Given the description of an element on the screen output the (x, y) to click on. 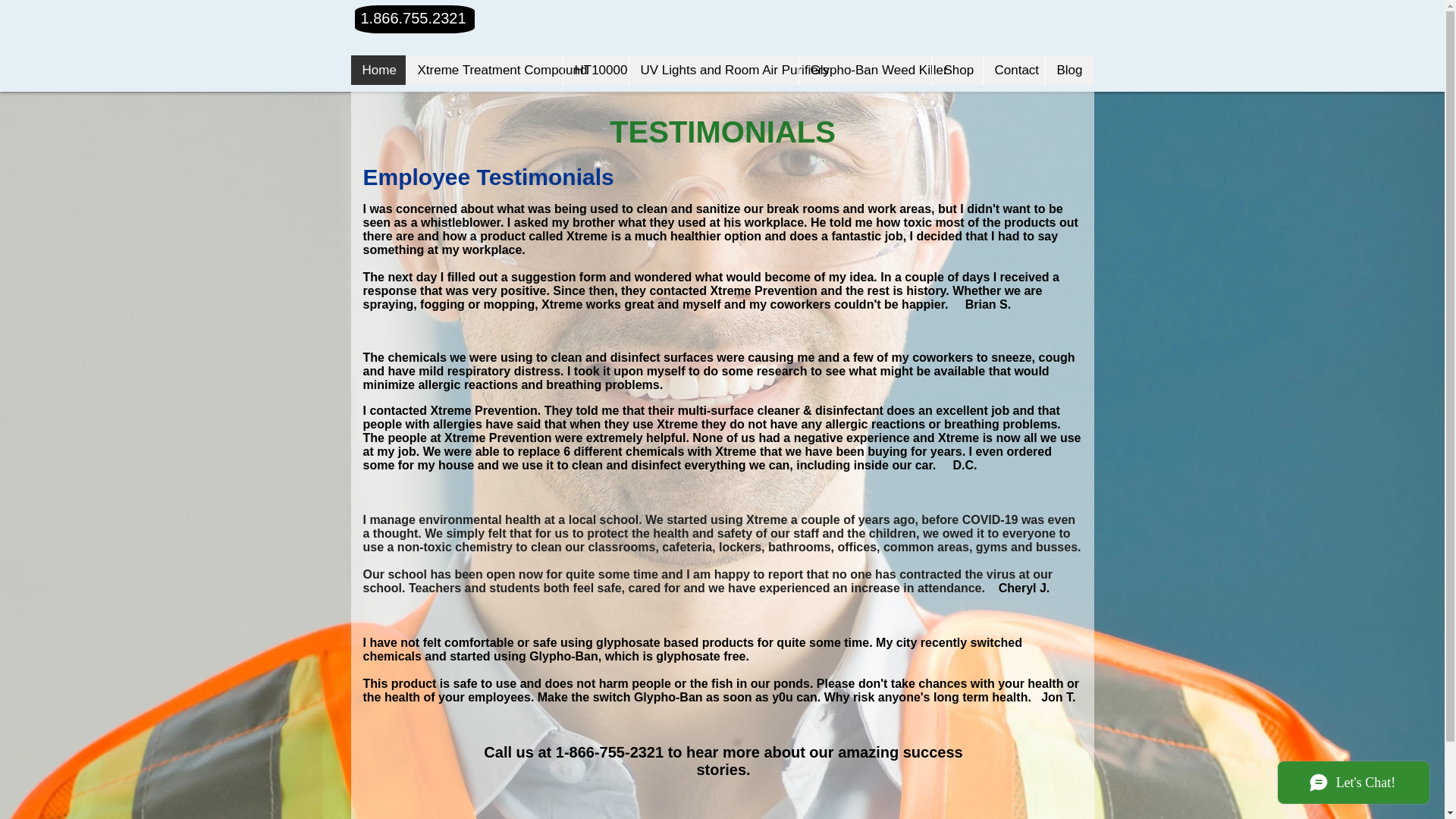
Contact (1013, 70)
Xtreme Treatment Compound (483, 70)
Shop (956, 70)
HT10000 (595, 70)
Home (377, 70)
Blog (1069, 70)
UV Lights and Room Air Purifiers (712, 70)
Glypho-Ban Weed Killer (864, 70)
